Given the description of an element on the screen output the (x, y) to click on. 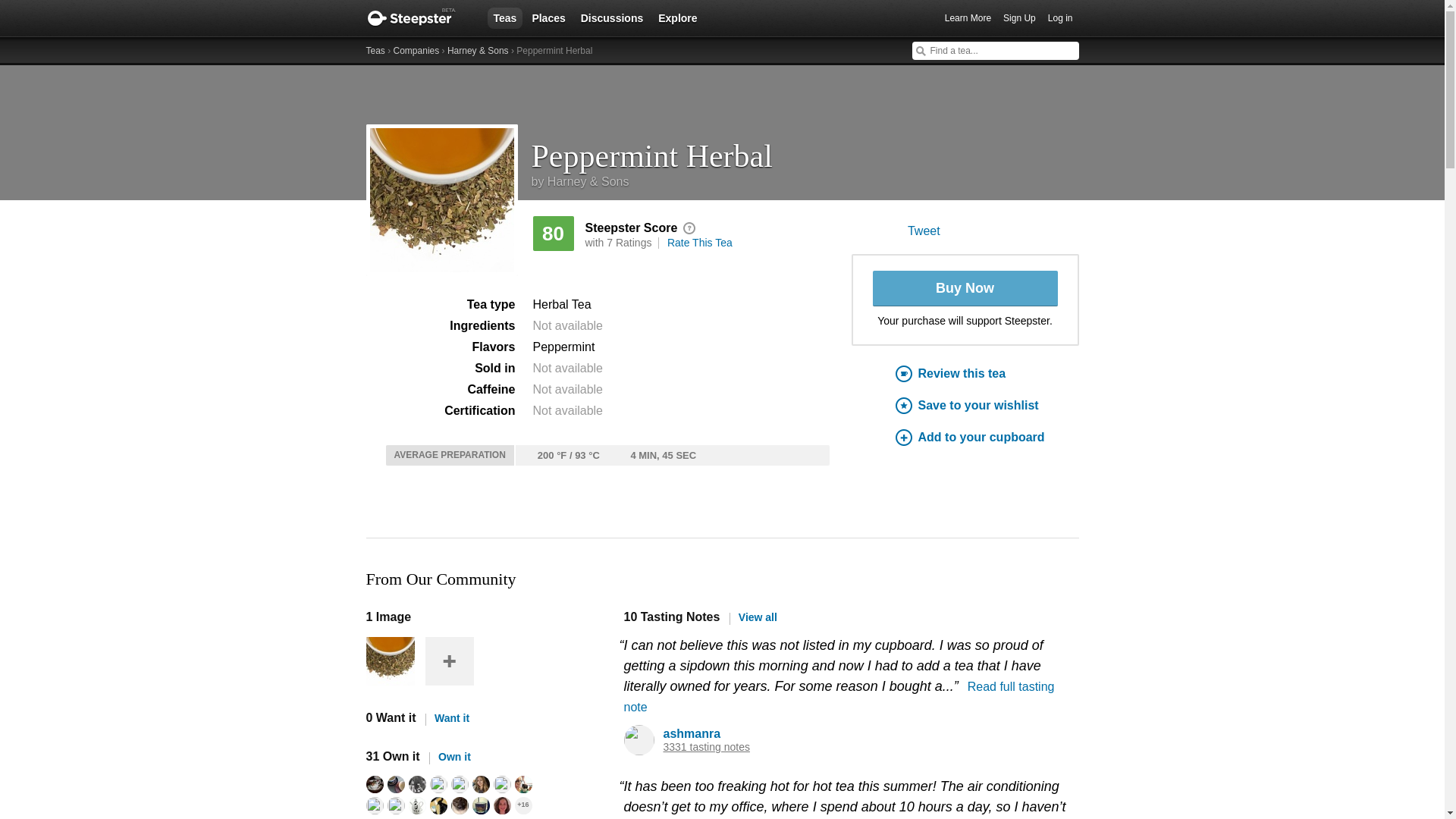
Tweet (923, 230)
Peppermint Herbal (804, 150)
Review this tea (986, 373)
Rate This Tea (699, 242)
Log in (1060, 18)
Teas (374, 50)
Save to your wishlist (986, 404)
Own it (449, 756)
Want it (446, 717)
Places (547, 17)
